Given the description of an element on the screen output the (x, y) to click on. 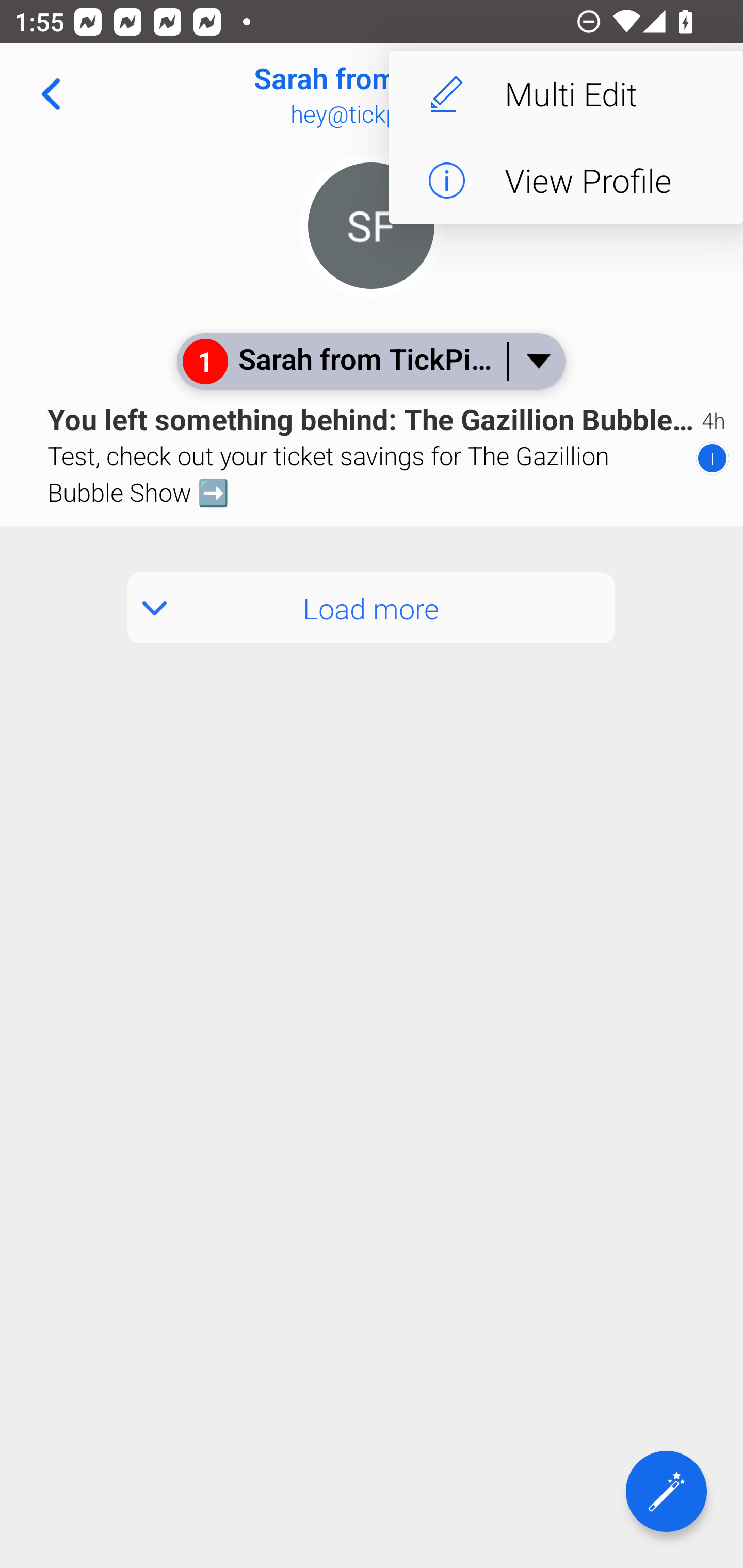
Multi Edit (566, 93)
View Profile (566, 180)
